Given the description of an element on the screen output the (x, y) to click on. 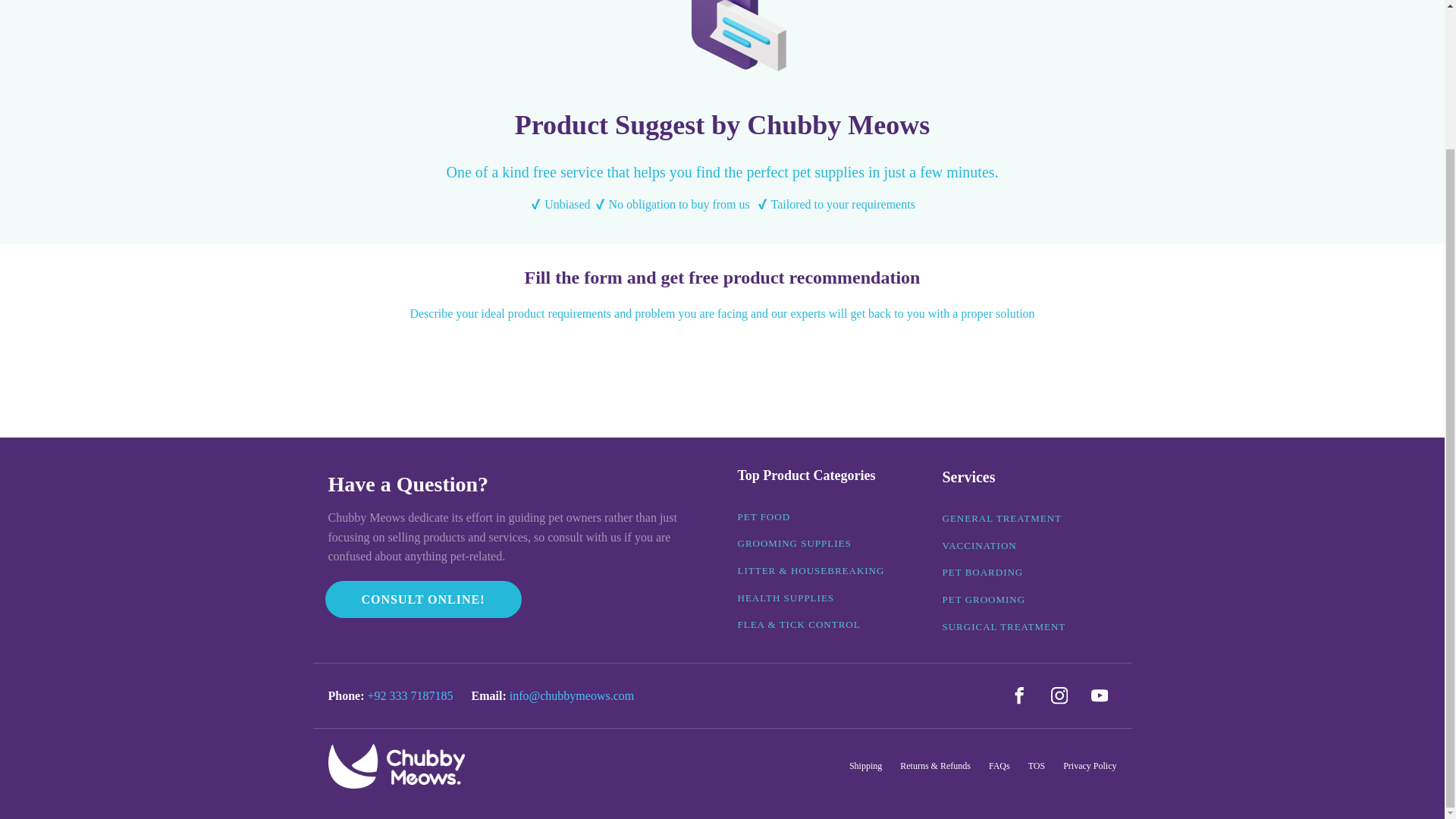
GENERAL TREATMENT (1001, 518)
SURGICAL TREATMENT (1003, 626)
Shipping (865, 766)
GROOMING SUPPLIES (793, 543)
HEALTH SUPPLIES (785, 598)
PET FOOD (763, 517)
CONSULT ONLINE! (422, 599)
PET BOARDING (982, 572)
Privacy Policy (1089, 766)
TOS (1036, 766)
